Given the description of an element on the screen output the (x, y) to click on. 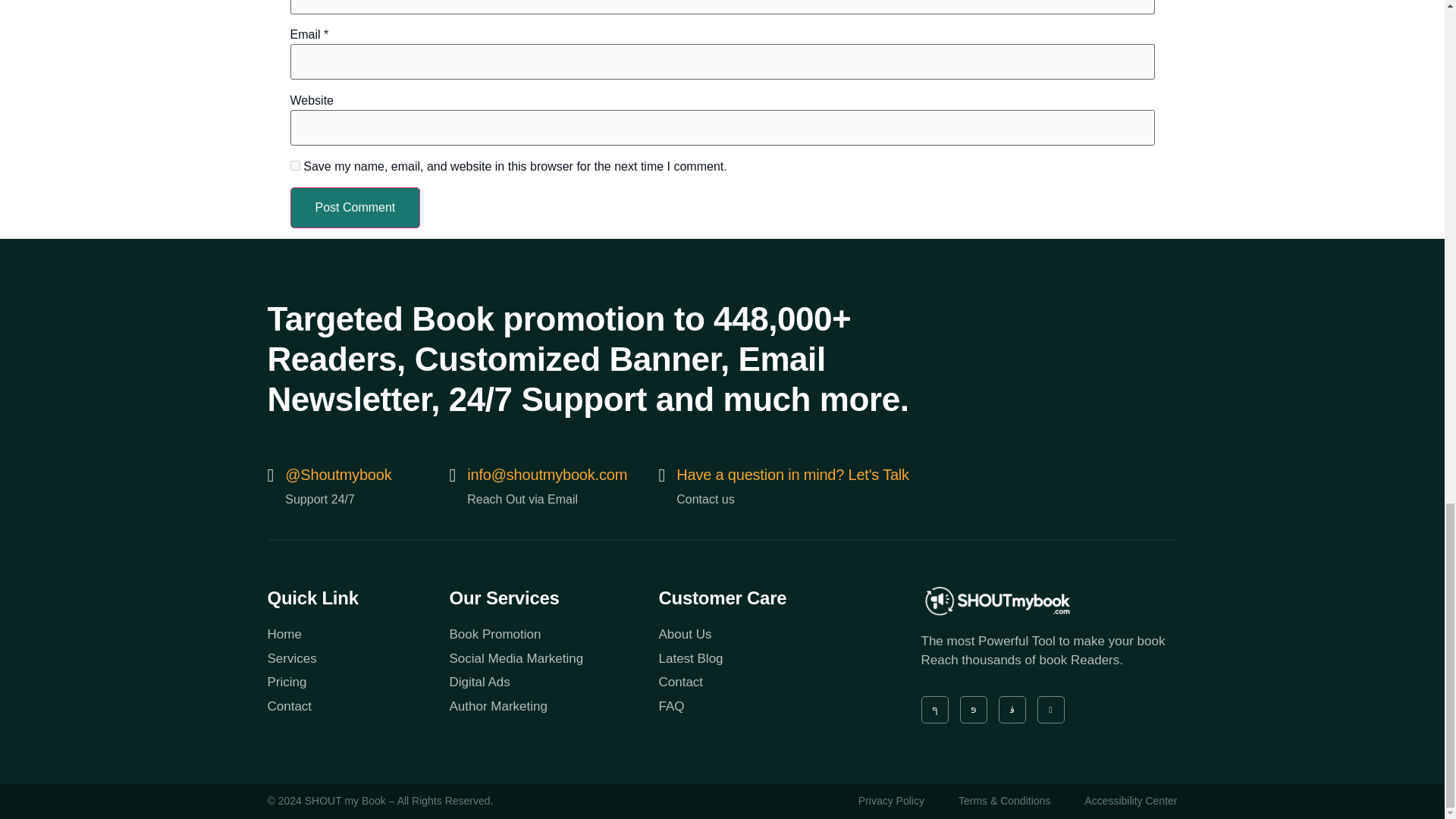
Pricing (357, 682)
Post Comment (354, 207)
Social Media Marketing (553, 659)
FAQ (762, 706)
Services (357, 659)
About Us (762, 634)
Accessibility Center (1130, 801)
Contact (762, 682)
Book Promotion (553, 634)
Contact (357, 706)
